Given the description of an element on the screen output the (x, y) to click on. 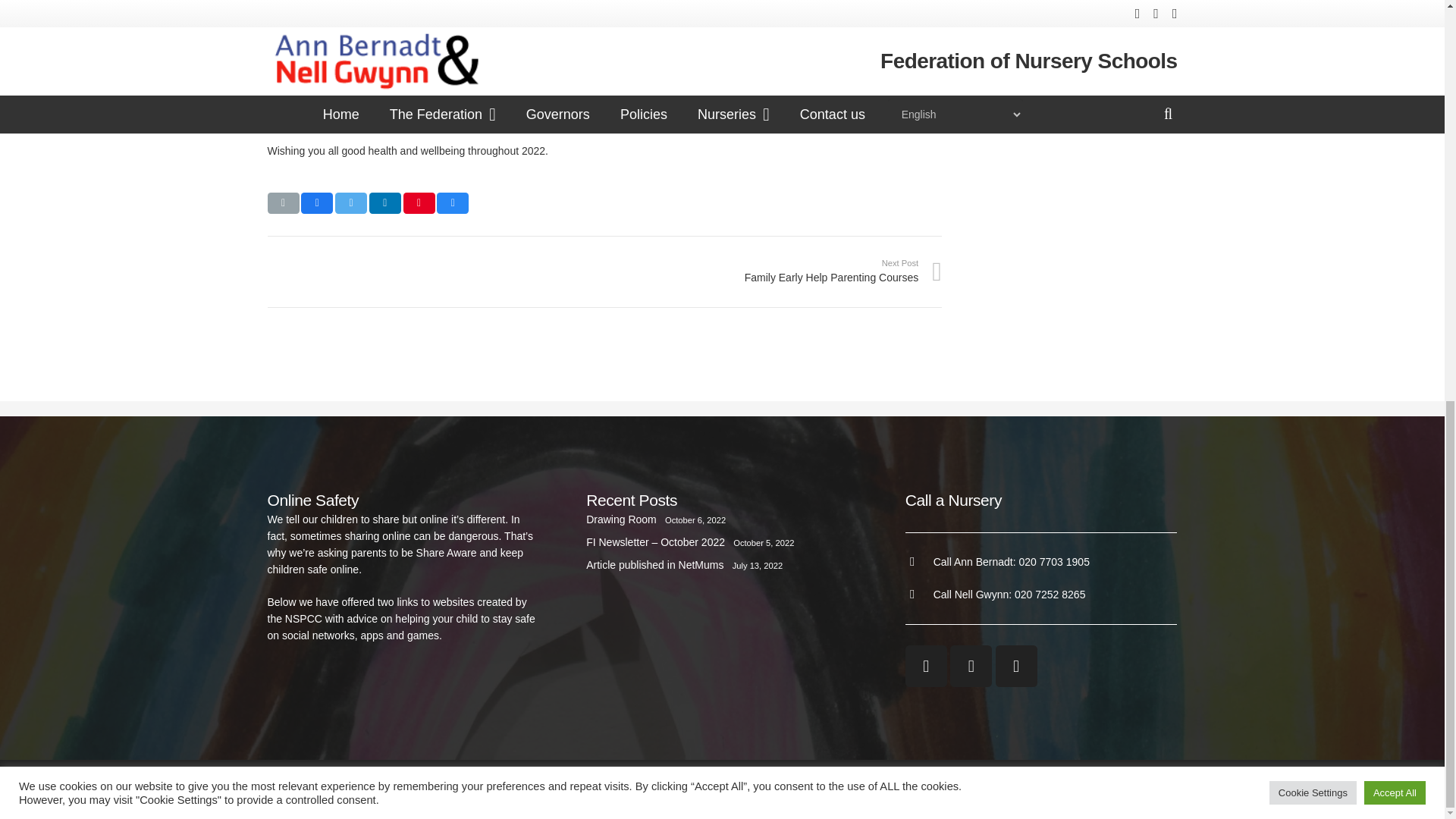
Share this (385, 202)
Pin this (419, 202)
Family Early Help Parenting Courses (773, 271)
Email this (773, 271)
Tweet this (282, 202)
Share this (350, 202)
Share this (452, 202)
